Given the description of an element on the screen output the (x, y) to click on. 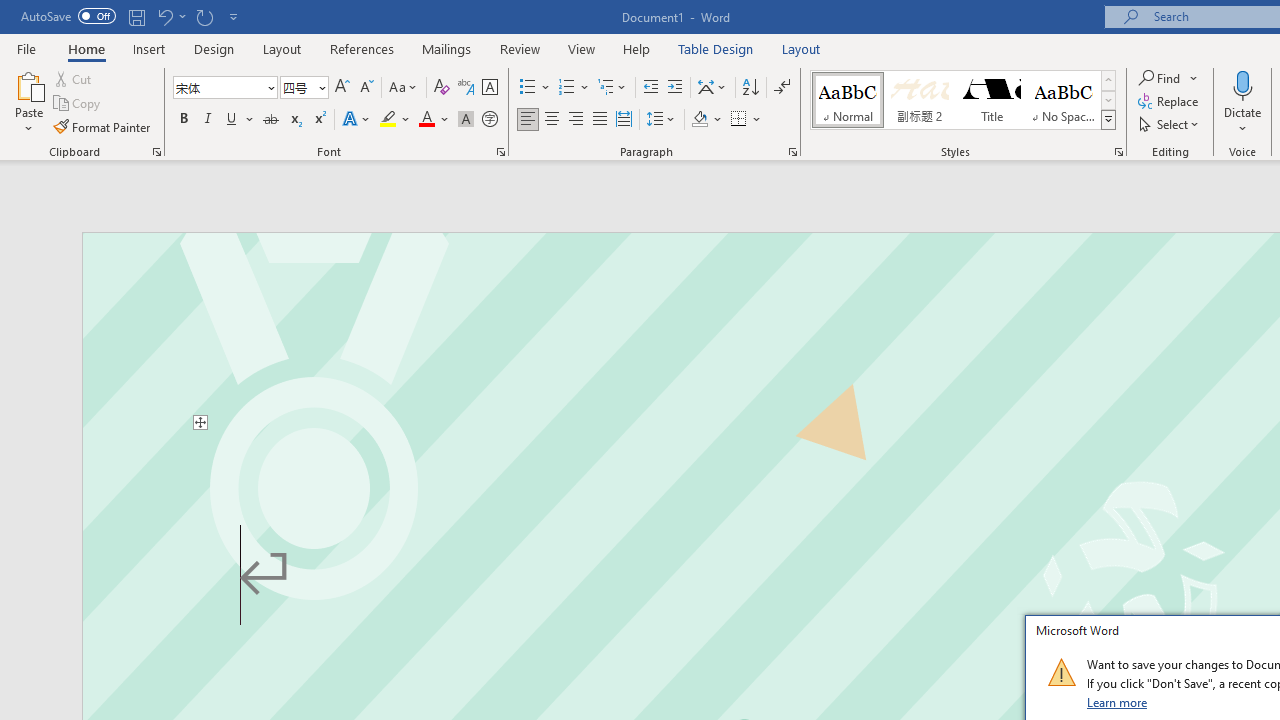
Font Color Red (426, 119)
